Given the description of an element on the screen output the (x, y) to click on. 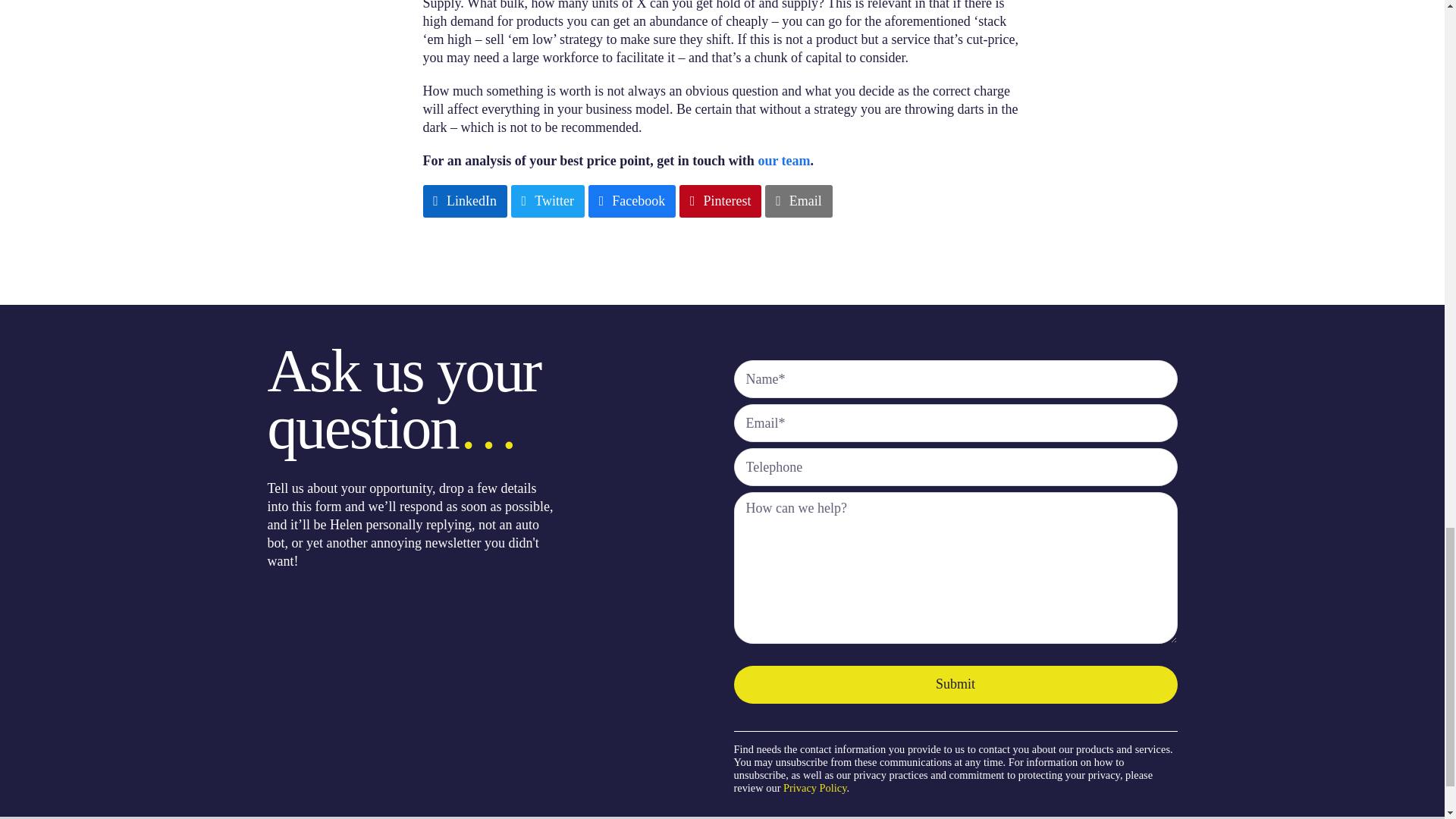
our team (783, 160)
LinkedIn (464, 201)
Submit (955, 684)
Facebook (631, 201)
Twitter (548, 201)
Privacy Policy (814, 787)
Pinterest (720, 201)
Submit (955, 684)
Email (798, 201)
